Given the description of an element on the screen output the (x, y) to click on. 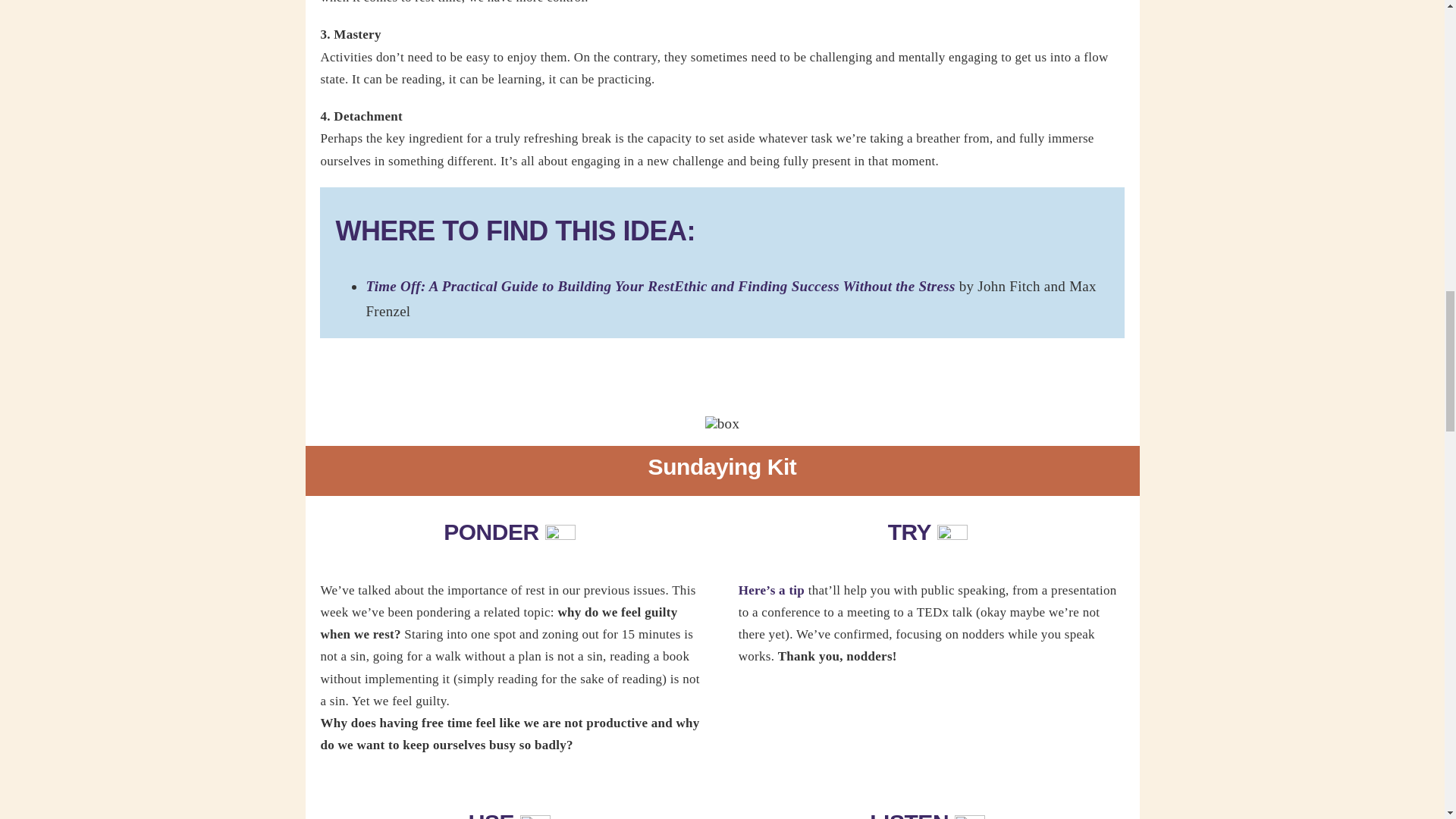
Sundaying Kit (721, 470)
box (721, 423)
